Given the description of an element on the screen output the (x, y) to click on. 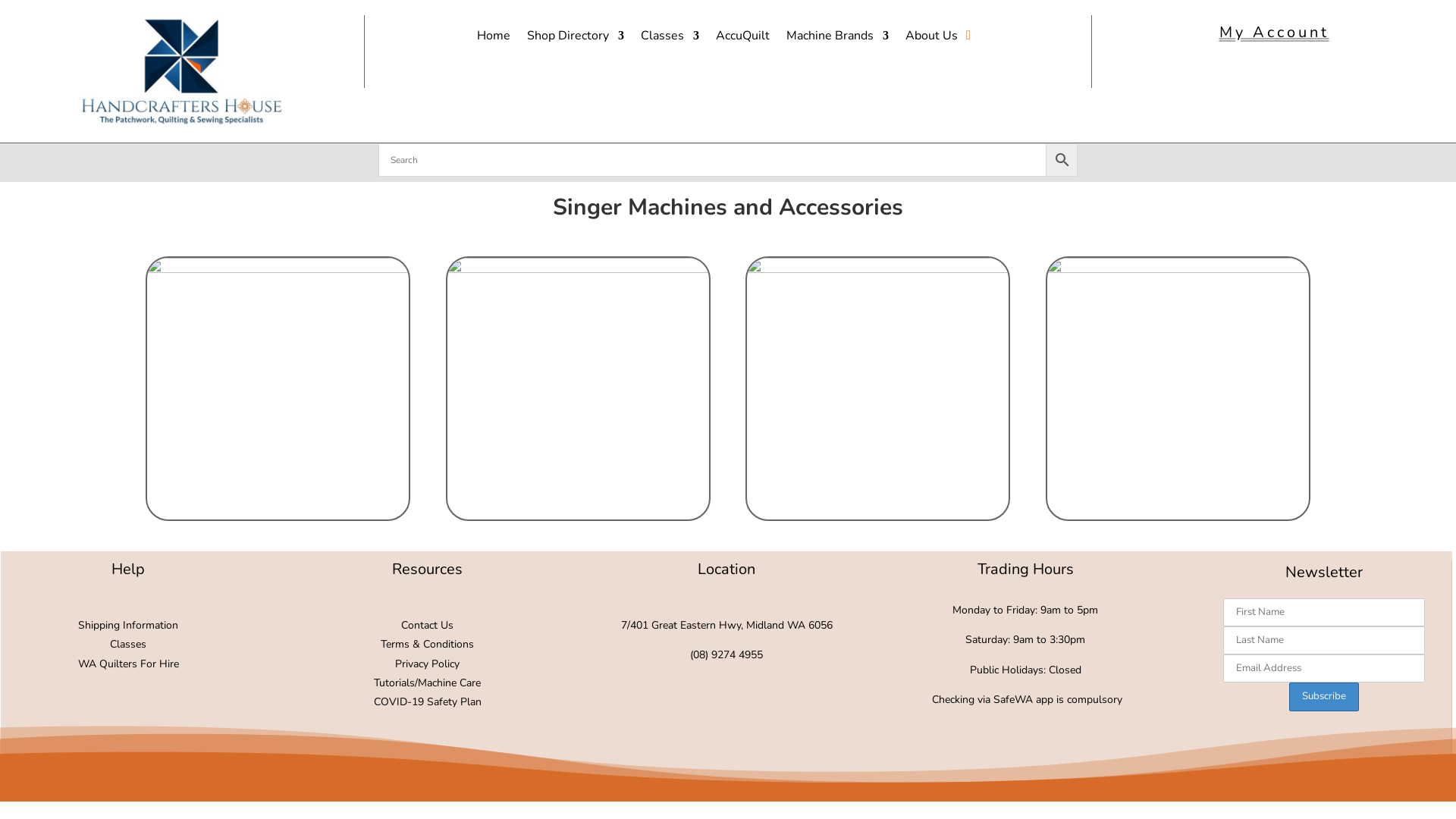
Shipping Information Element type: text (128, 625)
Singer Accessories Element type: hover (877, 388)
Singer needles Element type: hover (578, 388)
Classes Element type: text (127, 644)
Singer feet Element type: hover (1177, 388)
Machines (1) Element type: hover (277, 388)
Subscribe Element type: text (1323, 696)
Home Element type: text (493, 38)
WebHeaderHH logo -sm2 Element type: hover (181, 71)
Classes Element type: text (669, 38)
Shop Directory Element type: text (575, 38)
Contact Us Element type: text (427, 625)
Tutorials/Machine Care Element type: text (426, 682)
COVID-19 Safety Plan Element type: text (427, 701)
WA Quilters For Hire Element type: text (128, 663)
Terms & Conditions Element type: text (426, 644)
My Account Element type: text (1274, 32)
Privacy Policy Element type: text (427, 663)
AccuQuilt Element type: text (742, 38)
Machine Brands Element type: text (837, 38)
About Us Element type: text (931, 38)
